Given the description of an element on the screen output the (x, y) to click on. 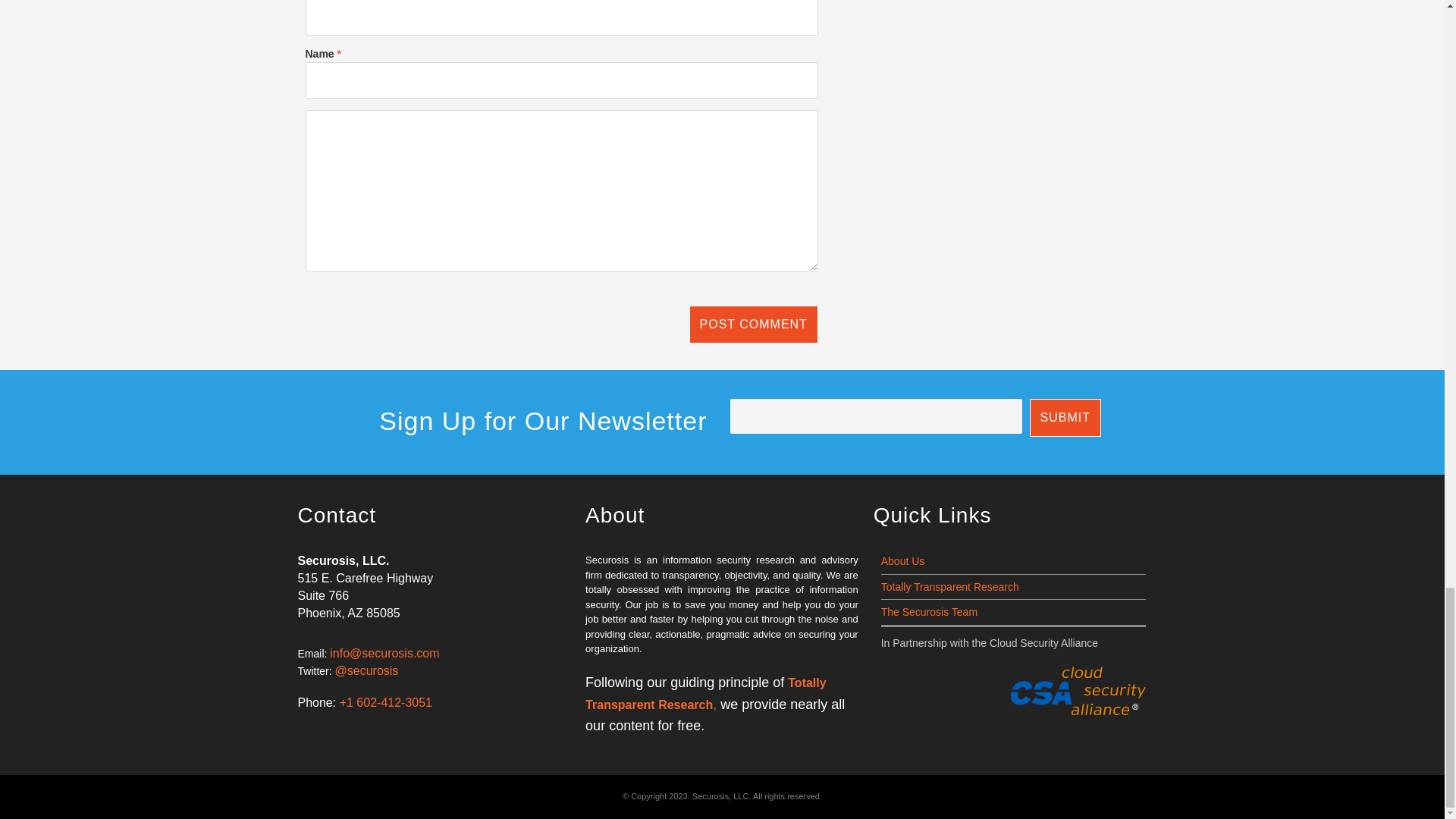
Twitter (314, 671)
Post Comment (753, 324)
Phone (316, 702)
totally-transparent-research (706, 693)
Submit (1064, 417)
Email (311, 653)
Post Comment (753, 324)
